Given the description of an element on the screen output the (x, y) to click on. 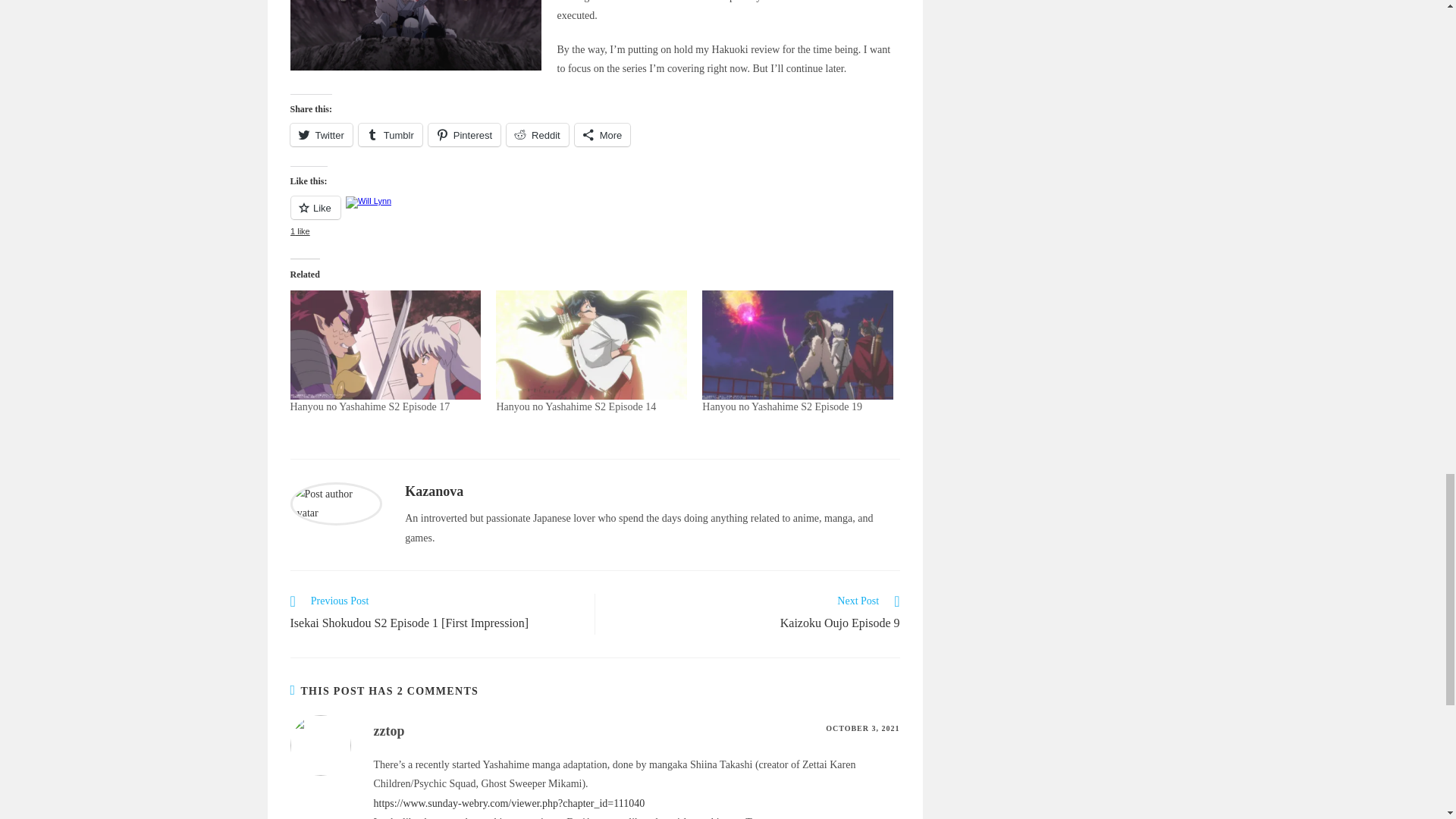
Hanyou no Yashahime S2 Episode 14 (591, 344)
Click to share on Pinterest (464, 134)
Hanyou no Yashahime S2 Episode 17 (384, 344)
Hanyou no Yashahime S2 Episode 14 (576, 406)
Click to share on Tumblr (390, 134)
Click to share on Twitter (320, 134)
Visit author page (433, 491)
Visit author page (335, 502)
Hanyou no Yashahime S2 Episode 17 (369, 406)
Hanyou no Yashahime S2 Episode 19 (797, 344)
Click to share on Reddit (537, 134)
Hanyou no Yashahime S2 Episode 19 (781, 406)
Like or Reblog (594, 216)
